Given the description of an element on the screen output the (x, y) to click on. 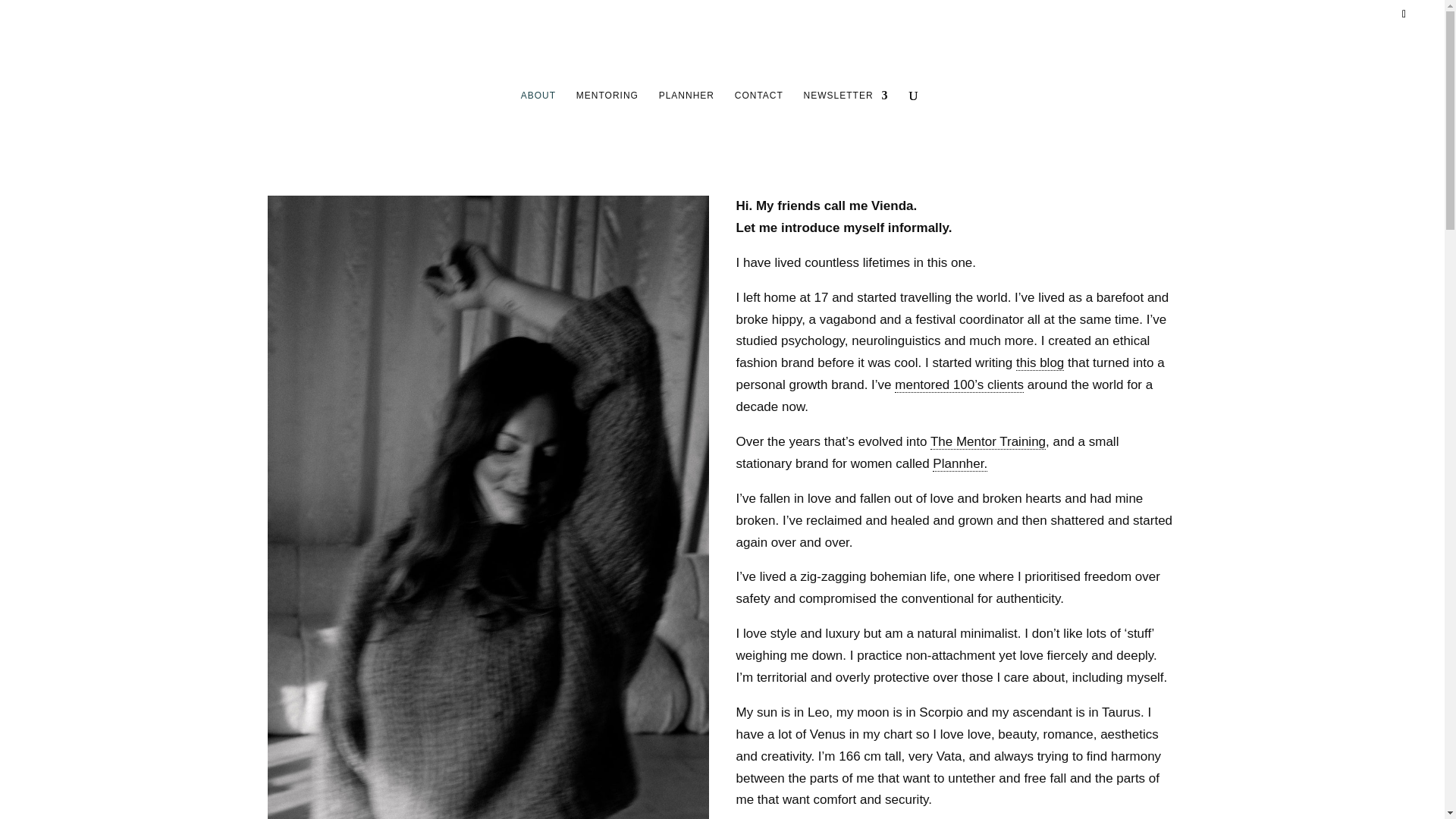
Plannher. (960, 463)
The Mentor Training (987, 441)
NEWSLETTER (845, 125)
this blog (1040, 363)
